Given the description of an element on the screen output the (x, y) to click on. 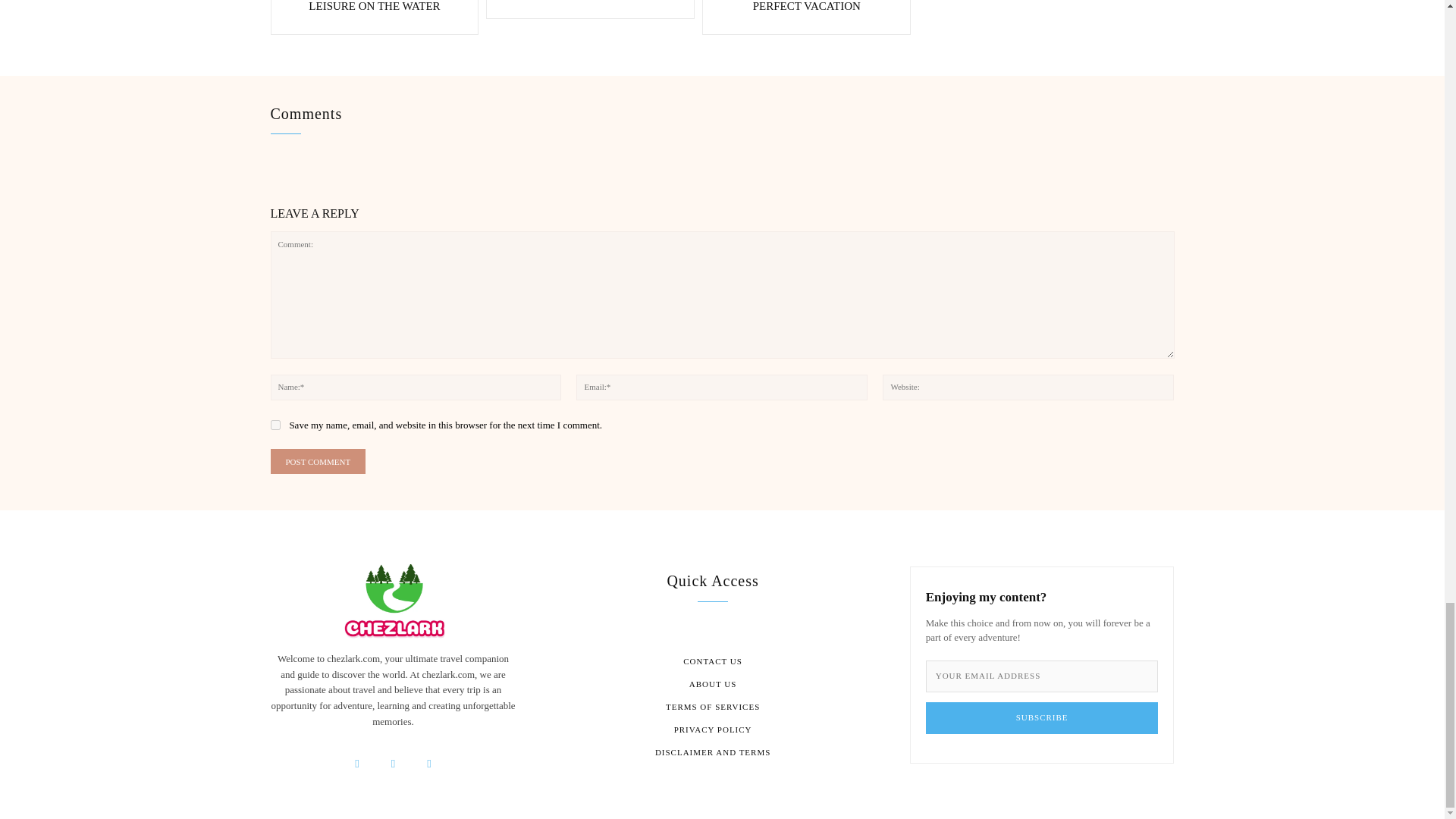
Post Comment (317, 461)
yes (274, 424)
